Given the description of an element on the screen output the (x, y) to click on. 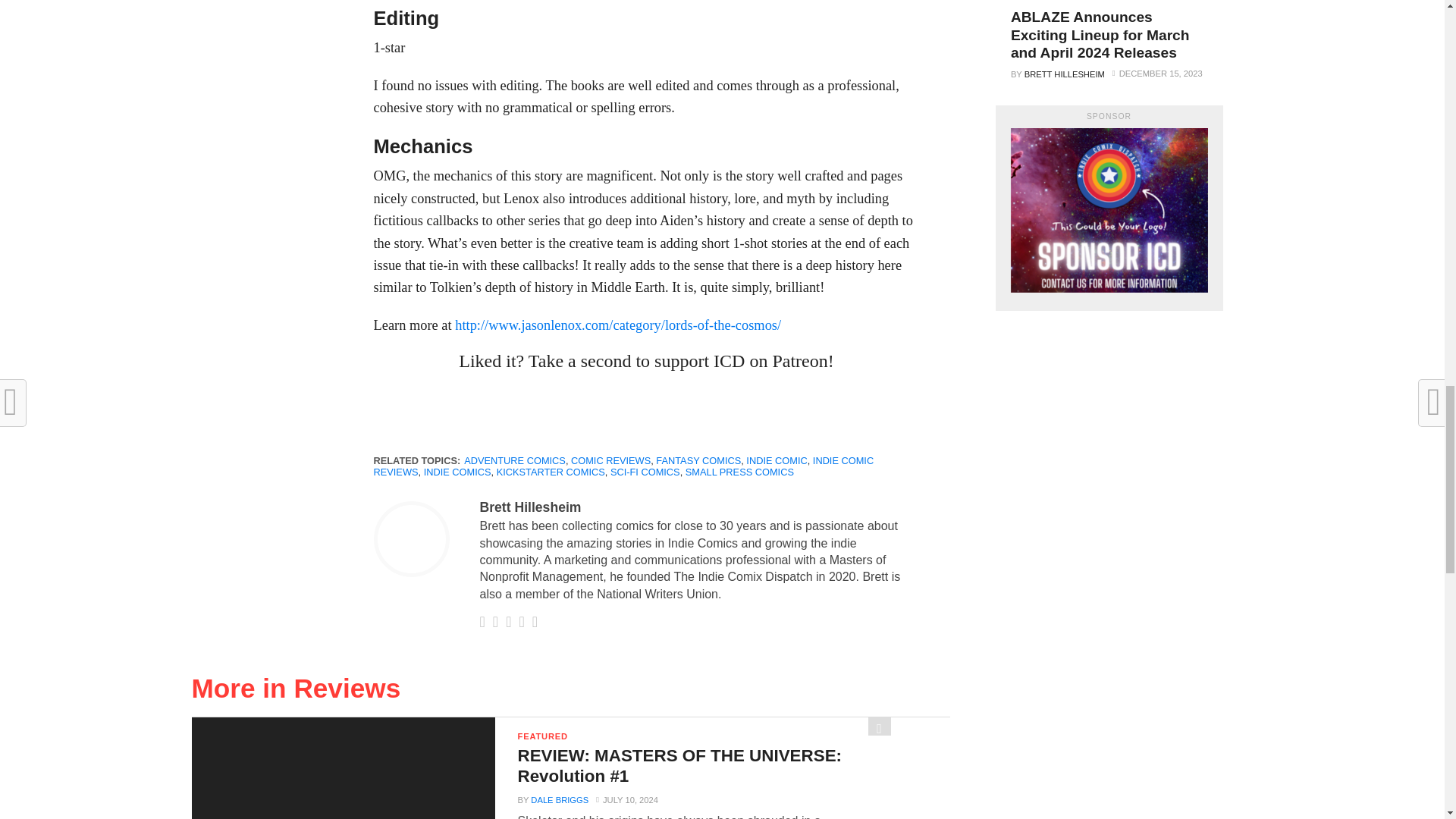
Posts by Brett Hillesheim (529, 507)
INDIE COMIC (775, 460)
KICKSTARTER COMICS (550, 471)
INDIE COMIC REVIEWS (622, 466)
ADVENTURE COMICS (515, 460)
Posts by Dale Briggs (559, 799)
COMIC REVIEWS (610, 460)
INDIE COMICS (457, 471)
FANTASY COMICS (698, 460)
